Given the description of an element on the screen output the (x, y) to click on. 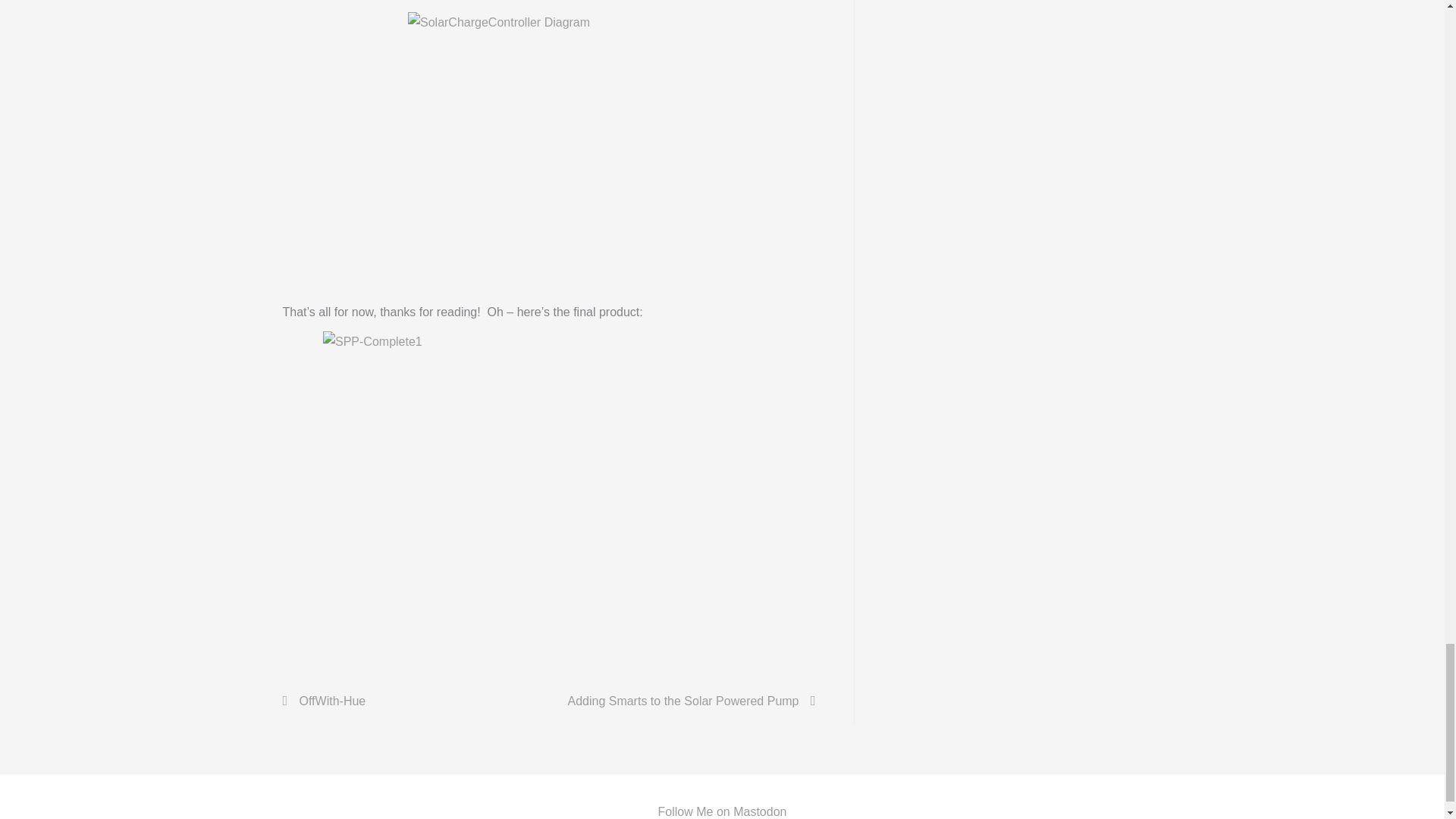
OffWith-Hue (324, 701)
Adding Smarts to the Solar Powered Pump (690, 701)
Follow Me on Mastodon (722, 811)
